Given the description of an element on the screen output the (x, y) to click on. 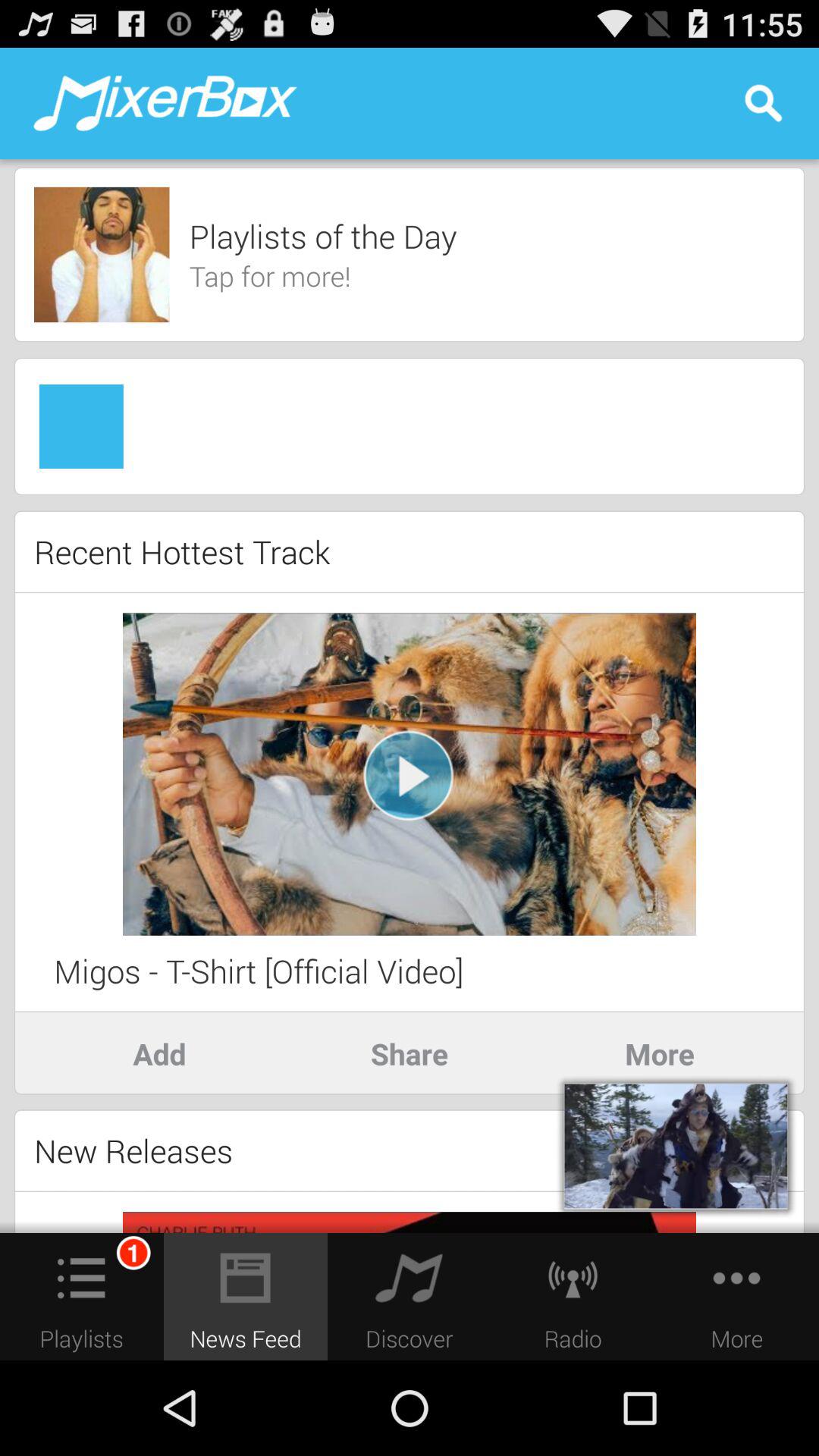
tap the icon above the recent hottest track item (409, 494)
